Given the description of an element on the screen output the (x, y) to click on. 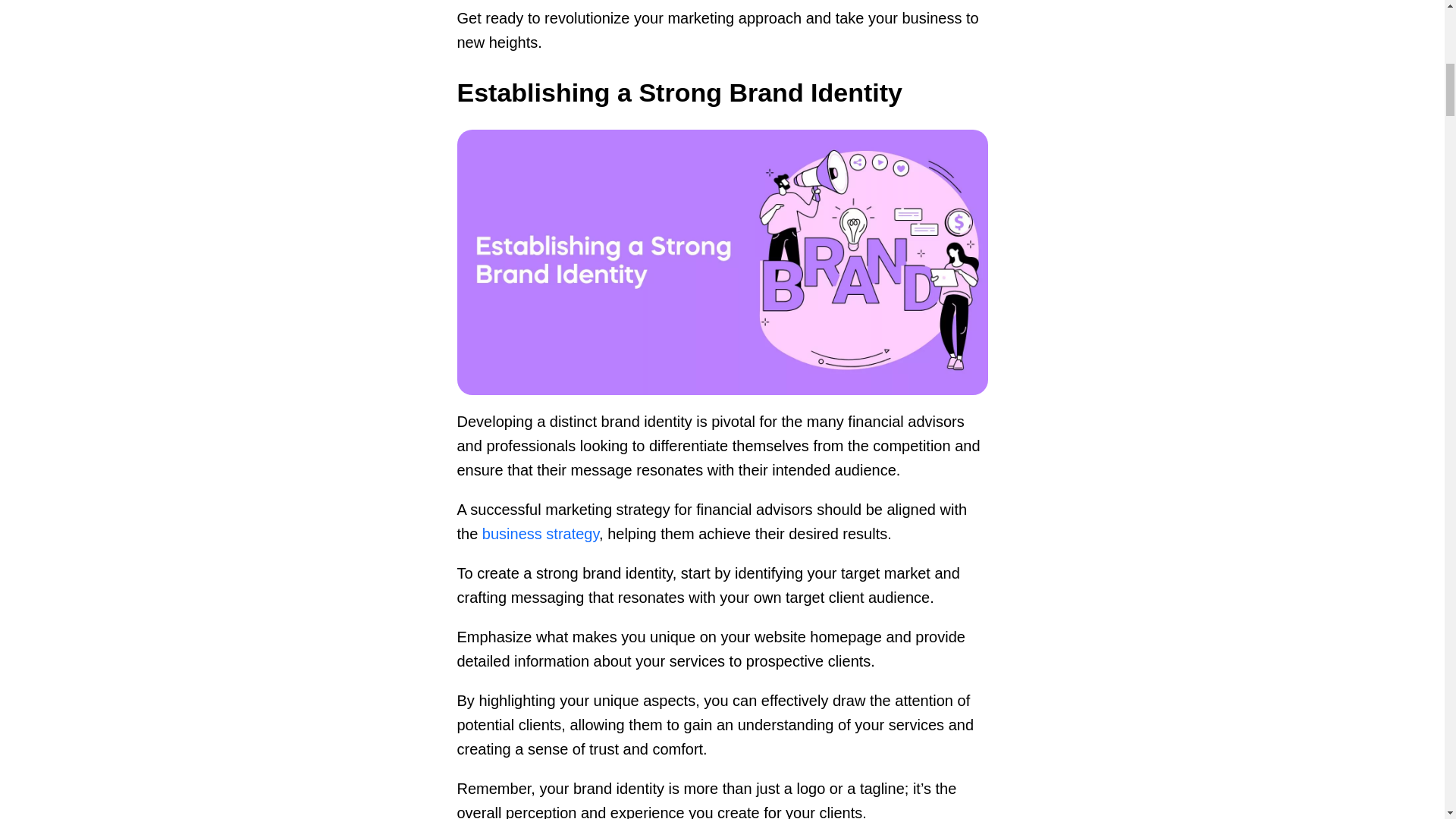
business strategy (539, 533)
